Given the description of an element on the screen output the (x, y) to click on. 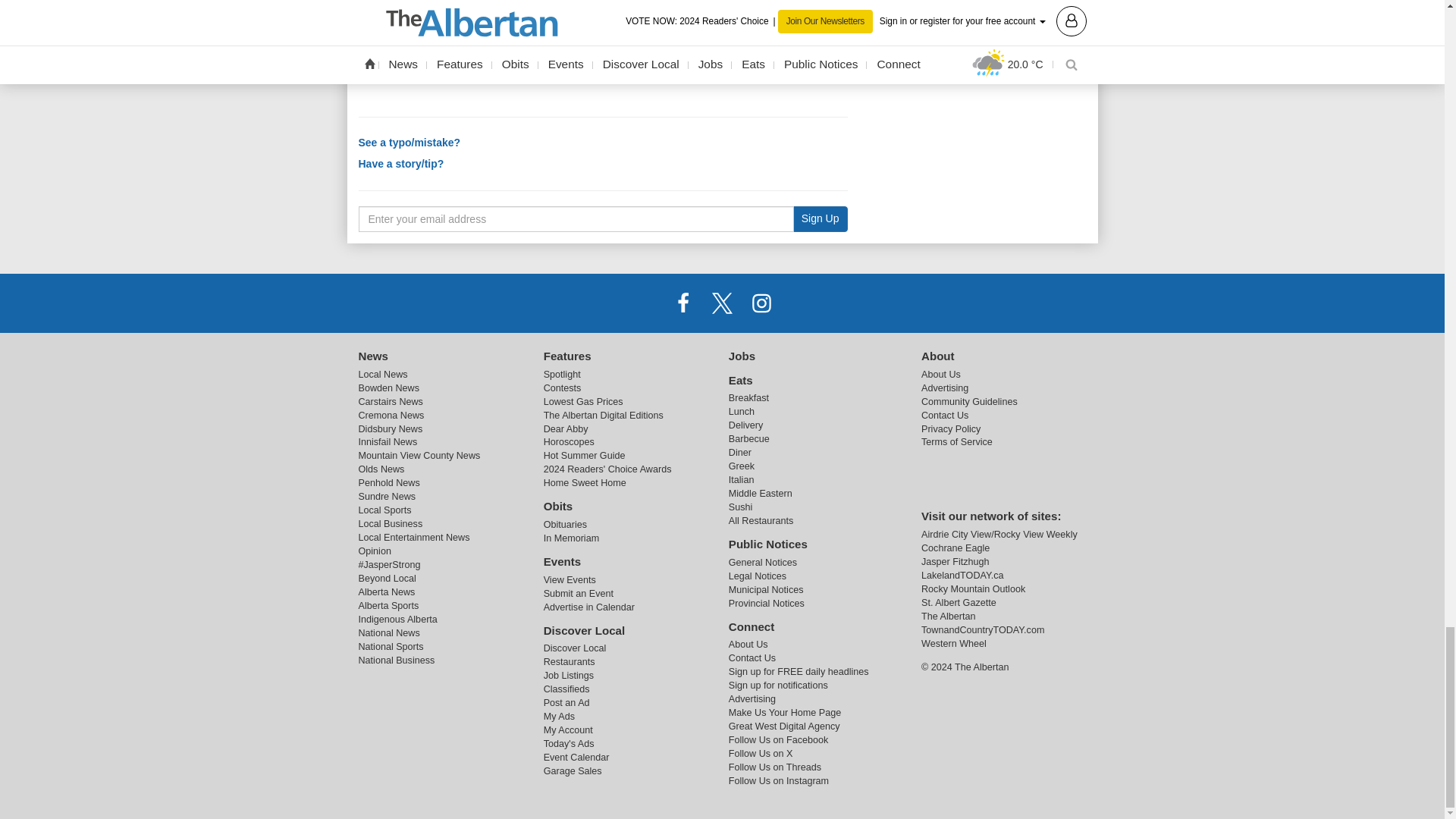
Facebook (683, 302)
X (721, 302)
Instagram (760, 302)
